Given the description of an element on the screen output the (x, y) to click on. 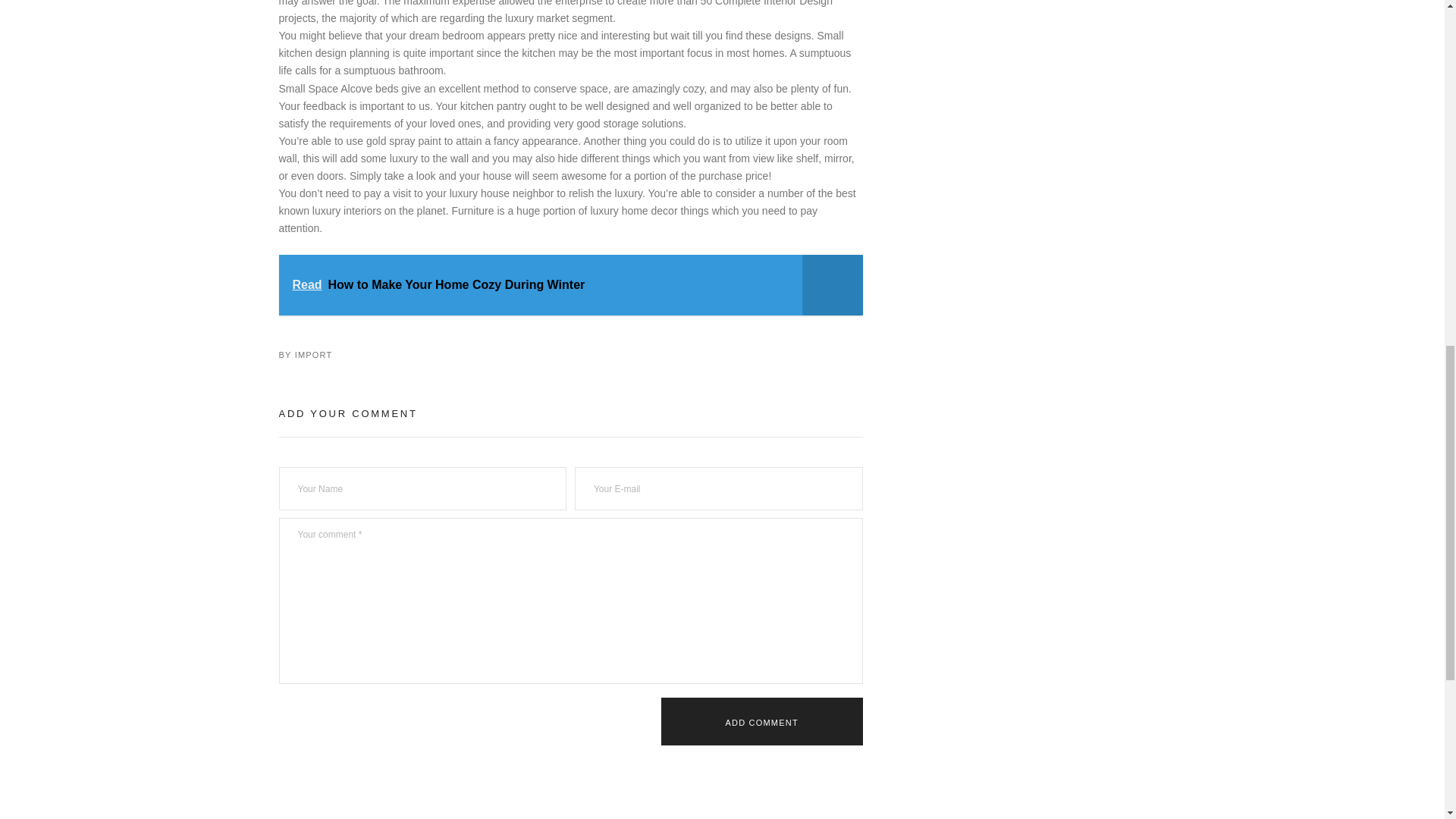
Add comment (762, 721)
Add comment (762, 721)
IMPORT (314, 354)
Read  How to Make Your Home Cozy During Winter (571, 284)
